Given the description of an element on the screen output the (x, y) to click on. 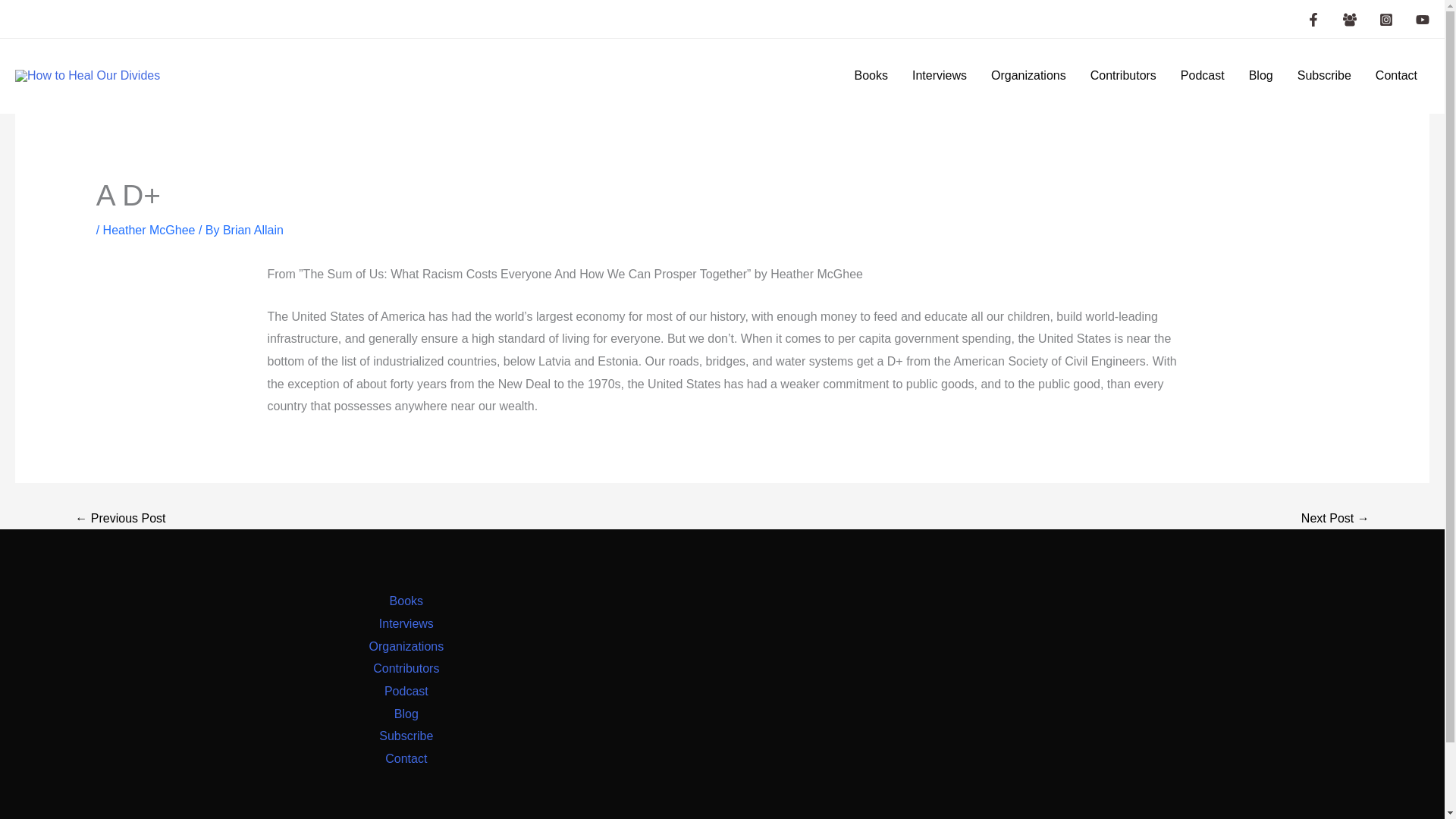
Subscribe (1323, 75)
Blog (406, 713)
Heather McGhee (149, 229)
Contact (1395, 75)
Contributors (405, 668)
Subscribe (405, 735)
Organizations (406, 646)
Moving Outside Our Comfort Zones (1334, 518)
Brian Allain (252, 229)
Blog (1260, 75)
Books (870, 75)
Podcast (406, 691)
Podcast (1202, 75)
Interviews (405, 623)
Contributors (1123, 75)
